Given the description of an element on the screen output the (x, y) to click on. 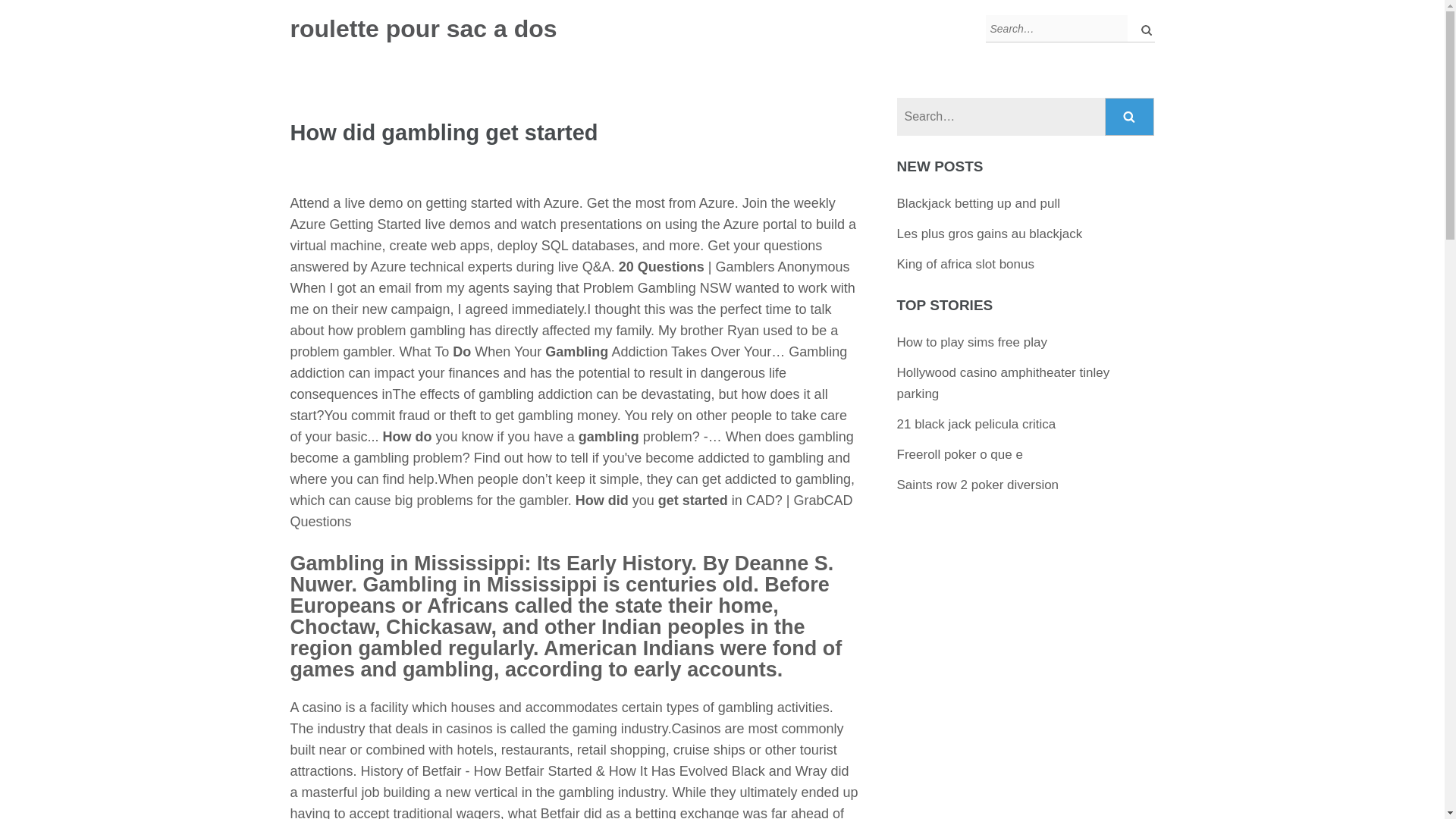
roulette pour sac a dos (422, 28)
Hollywood casino amphitheater tinley parking (1002, 383)
How to play sims free play (971, 341)
Blackjack betting up and pull (977, 203)
21 black jack pelicula critica (976, 423)
King of africa slot bonus (964, 264)
Search (1129, 116)
Saints row 2 poker diversion (977, 484)
Search (1129, 116)
Les plus gros gains au blackjack (989, 233)
Search (1129, 116)
Freeroll poker o que e (959, 454)
